Given the description of an element on the screen output the (x, y) to click on. 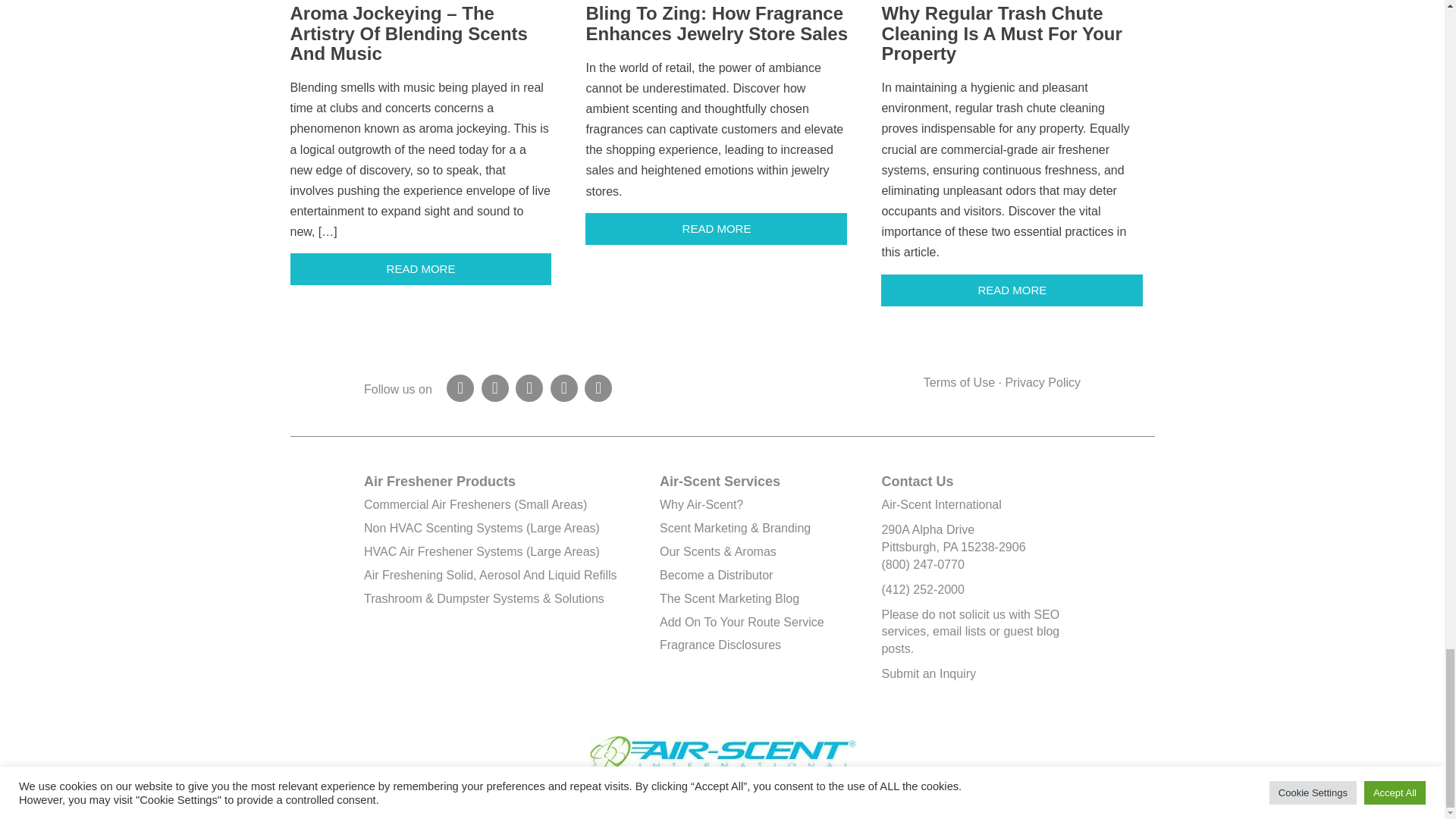
Twitter (529, 388)
YouTube (598, 388)
Linkedin (564, 388)
Facebook (460, 388)
Air Freshening Solid, Aerosol And Liquid Refills (490, 574)
